Given the description of an element on the screen output the (x, y) to click on. 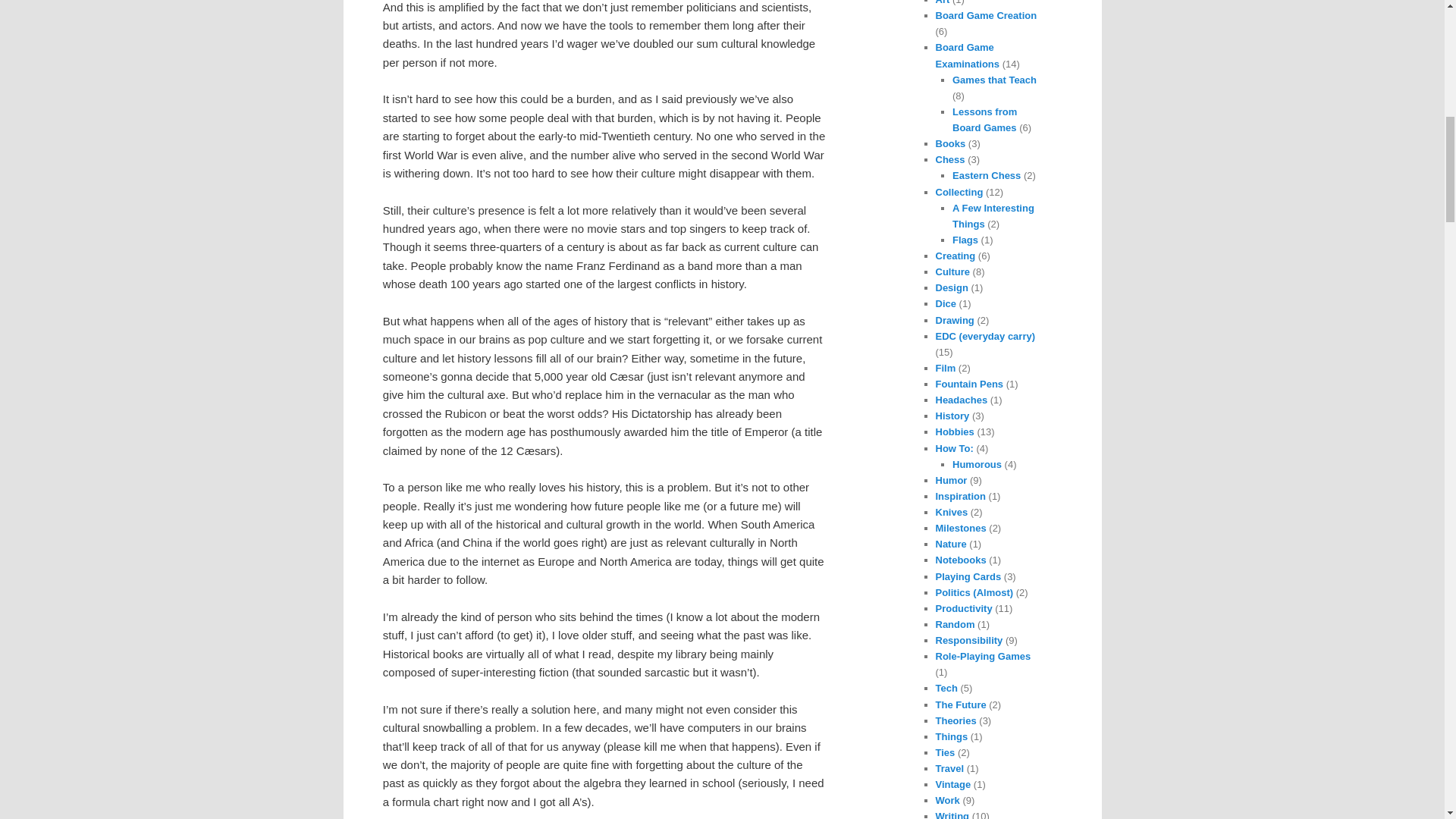
Sign me up! (1349, 194)
Enter email address (1348, 166)
